Given the description of an element on the screen output the (x, y) to click on. 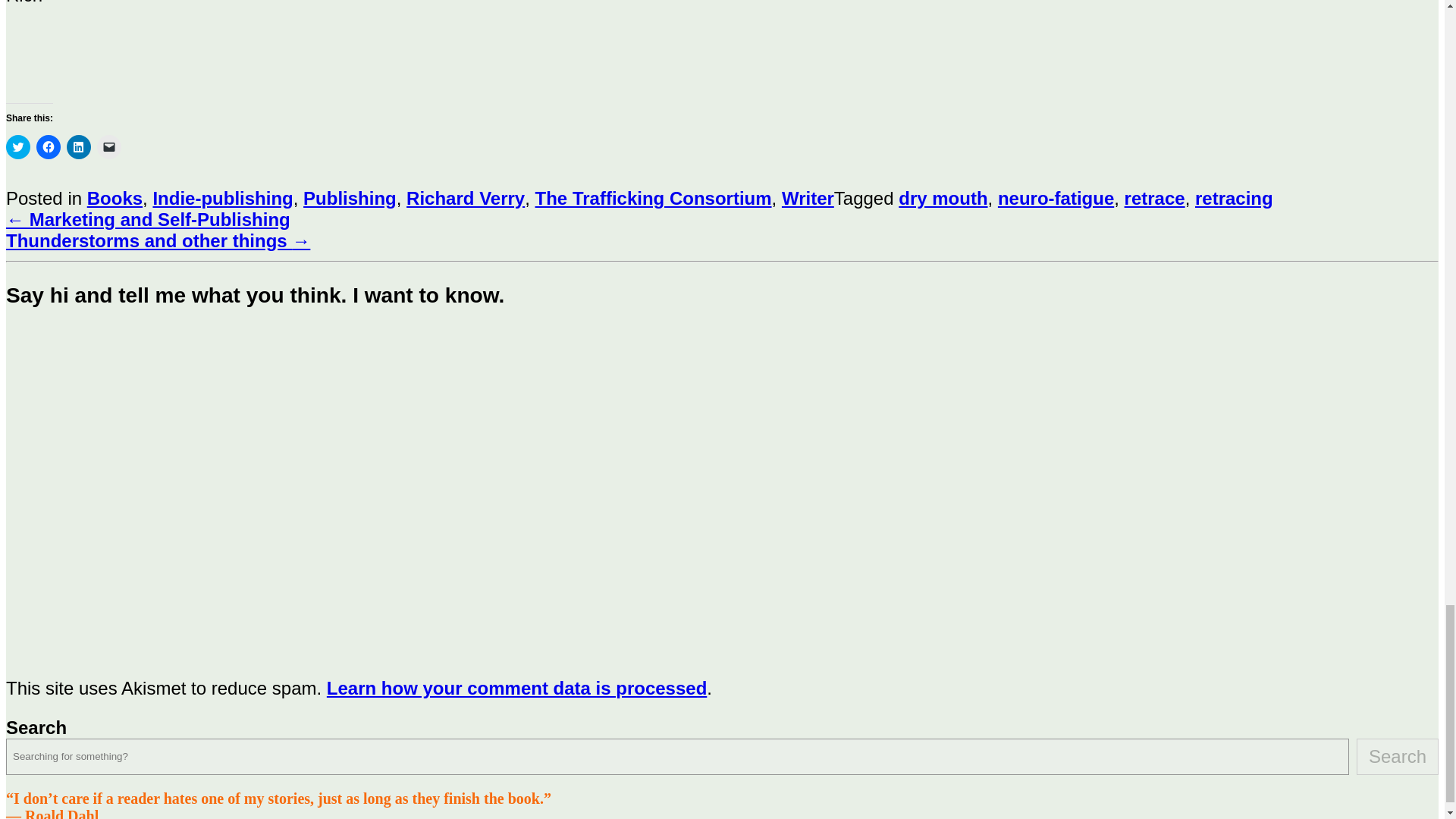
Click to share on LinkedIn (78, 146)
Books (114, 198)
Click to email a link to a friend (108, 146)
Click to share on Twitter (17, 146)
Click to share on Facebook (48, 146)
Indie-publishing (222, 198)
